Given the description of an element on the screen output the (x, y) to click on. 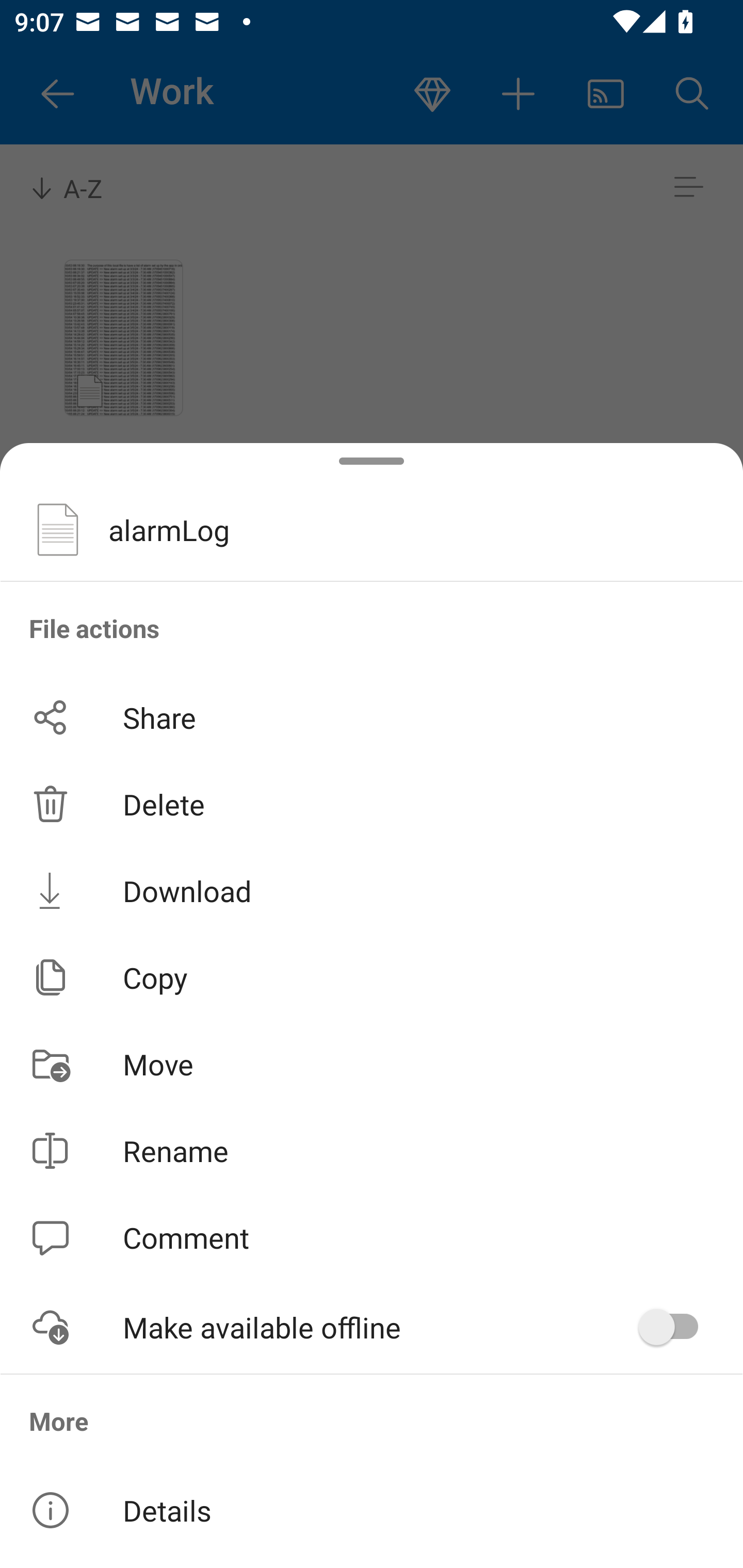
Share button Share (371, 717)
Delete button Delete (371, 803)
Download button Download (371, 890)
Copy button Copy (371, 977)
Move button Move (371, 1063)
Rename button Rename (371, 1150)
Comment button Comment (371, 1237)
Make offline operation (674, 1327)
Details button Details (371, 1510)
